Given the description of an element on the screen output the (x, y) to click on. 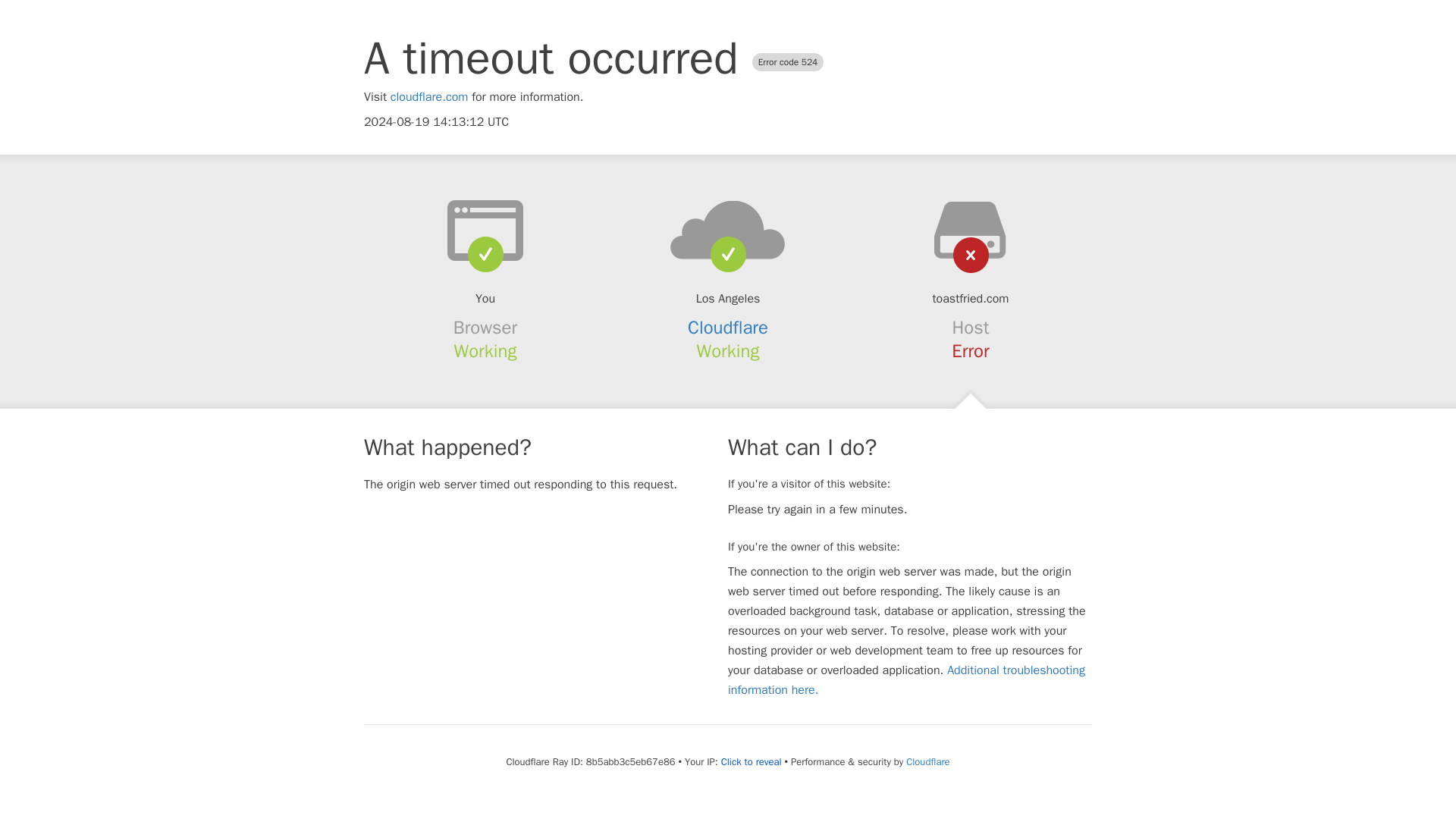
Additional troubleshooting information here. (906, 679)
Cloudflare (927, 761)
Cloudflare (727, 327)
cloudflare.com (429, 96)
Click to reveal (750, 762)
